Given the description of an element on the screen output the (x, y) to click on. 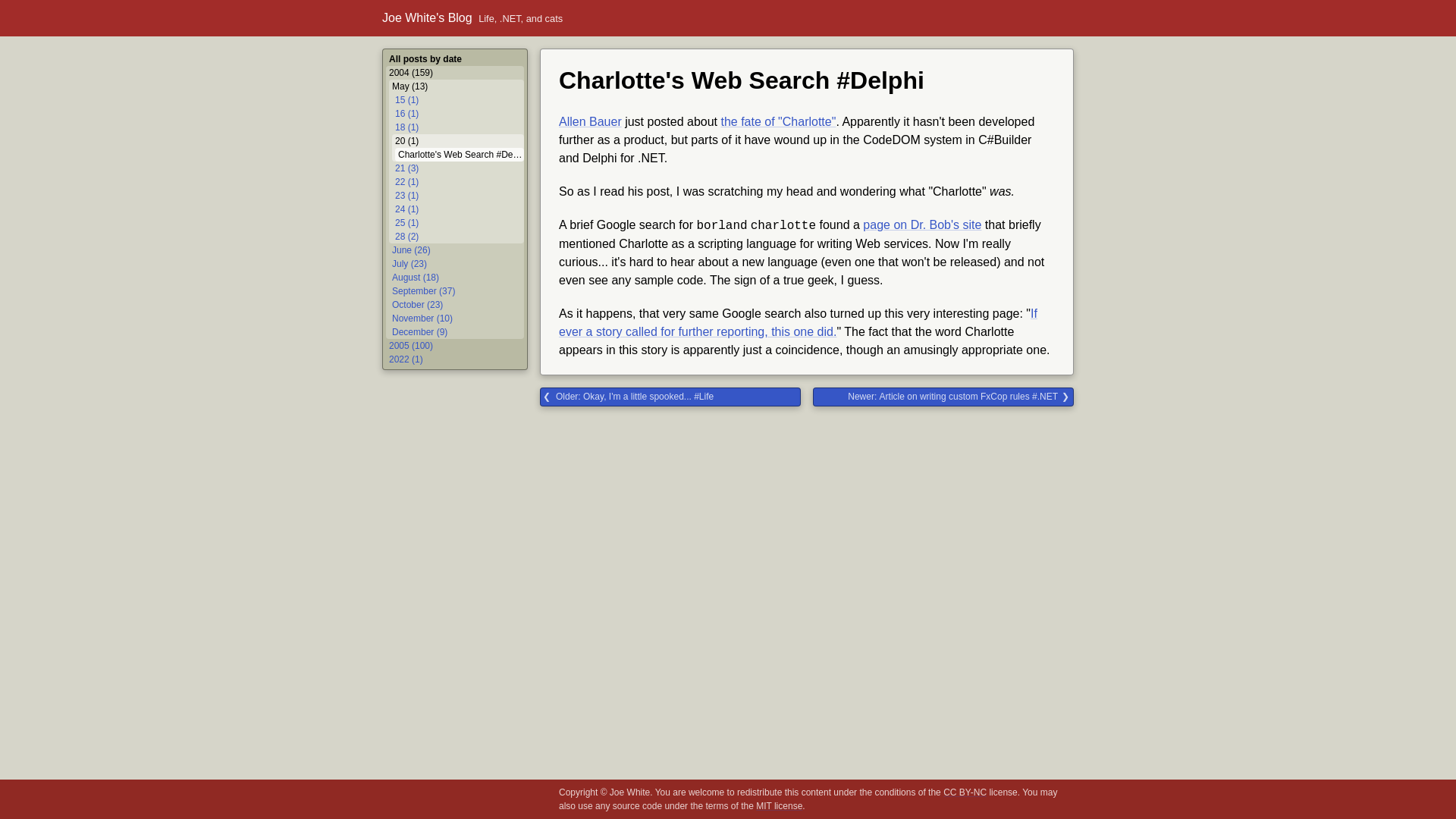
MIT license (778, 805)
page on Dr. Bob's site (922, 224)
CC BY-NC (965, 792)
the fate of "Charlotte" (777, 121)
Joe White's Blog (426, 17)
If ever a story called for further reporting, this one did. (797, 322)
Allen Bauer (590, 121)
